Given the description of an element on the screen output the (x, y) to click on. 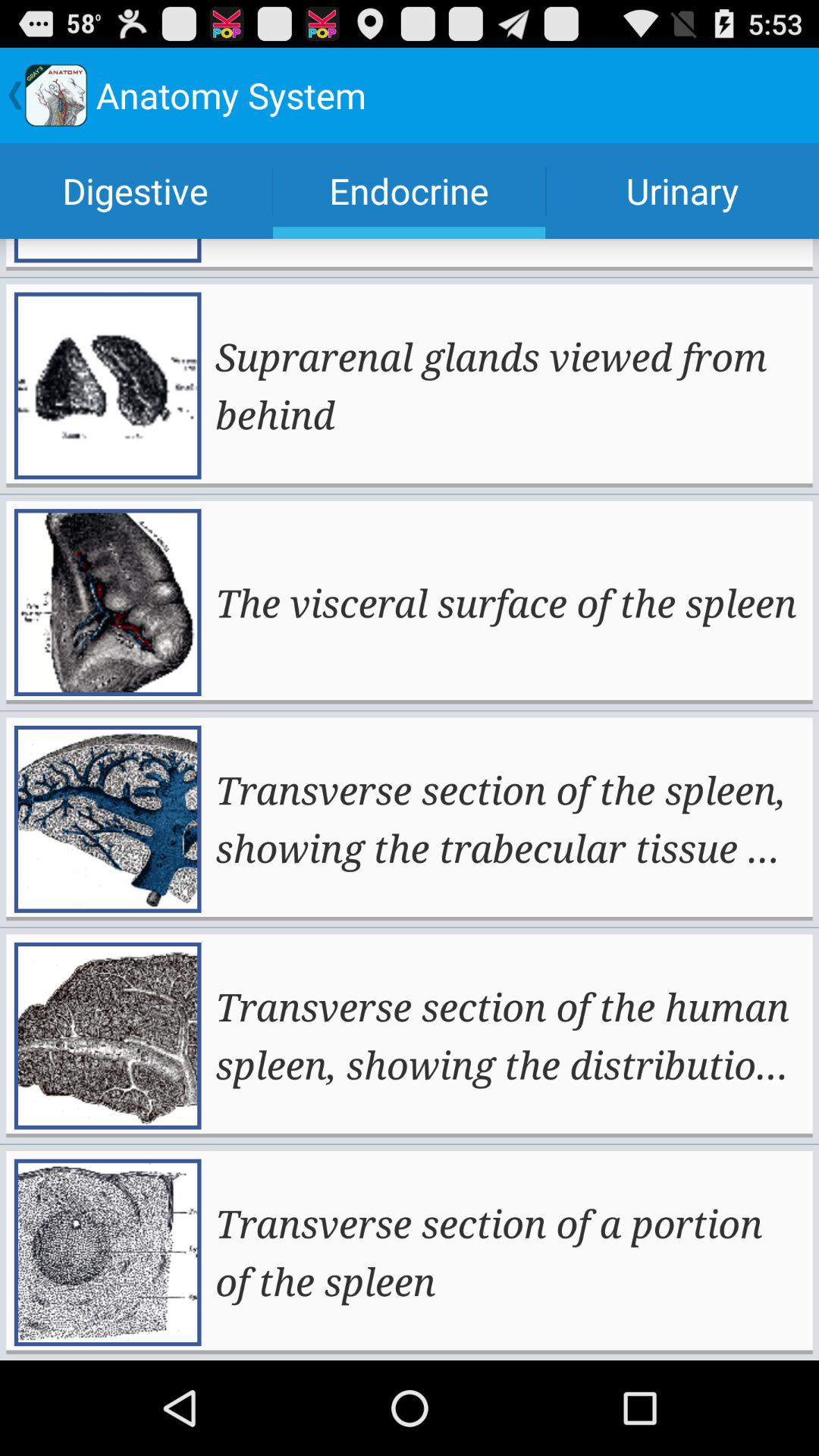
click the icon below the digestive app (507, 385)
